Given the description of an element on the screen output the (x, y) to click on. 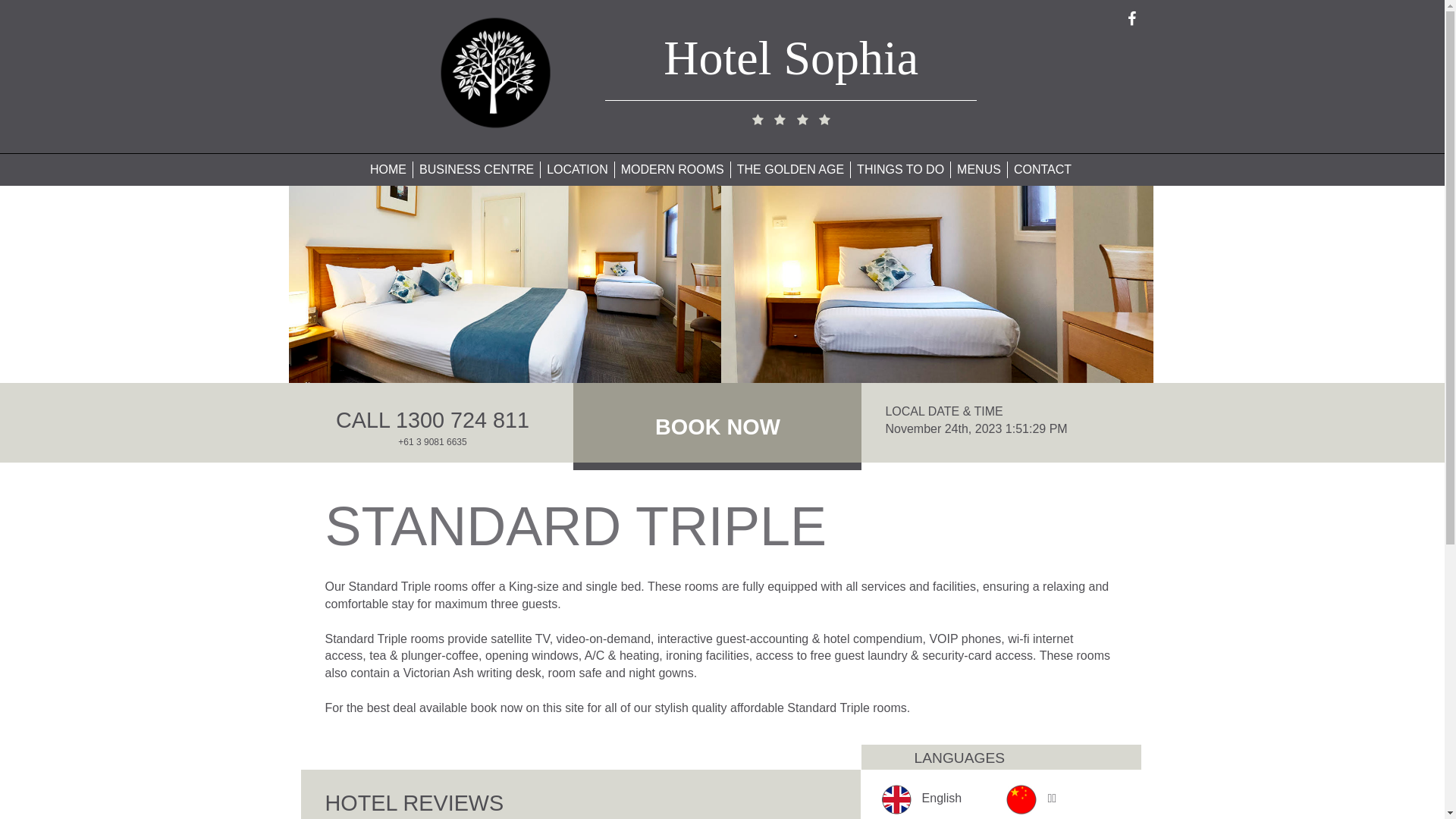
MODERN ROOMS Element type: text (672, 169)
MENUS Element type: text (978, 169)
BOOK NOW Element type: text (717, 434)
THE GOLDEN AGE Element type: text (790, 169)
LOCATION Element type: text (577, 169)
HOTEL REVIEWS Element type: text (413, 802)
HOME Element type: text (388, 169)
CONTACT Element type: text (1042, 169)
1300 724 811 Element type: text (462, 419)
BUSINESS CENTRE Element type: text (476, 169)
THINGS TO DO Element type: text (900, 169)
